Given the description of an element on the screen output the (x, y) to click on. 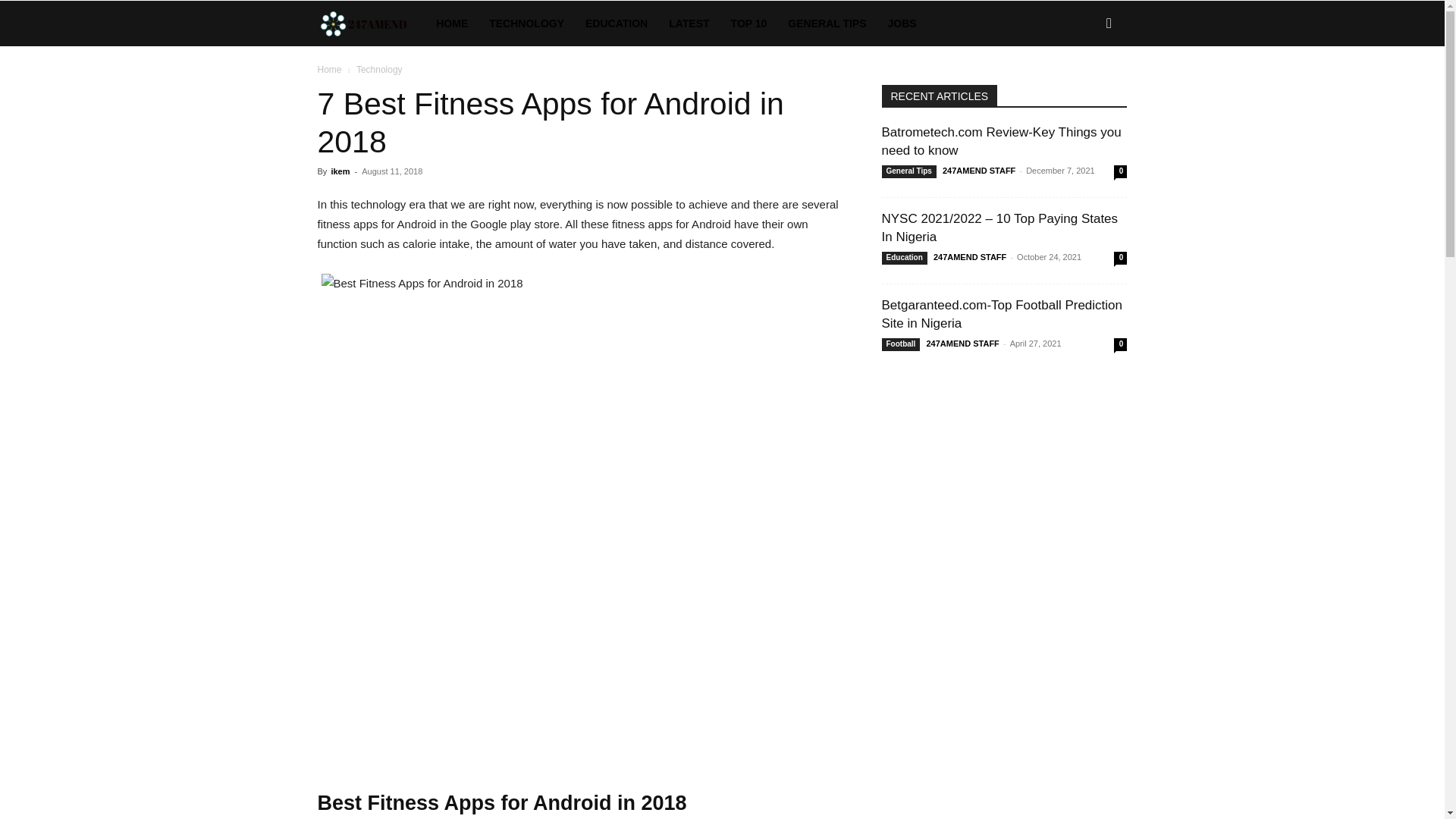
Batrometech.com Review-Key Things you need to know (1000, 141)
HOME (452, 22)
GENERAL TIPS (826, 22)
JOBS (902, 22)
LATEST (688, 22)
ikem (339, 171)
Home (328, 69)
EDUCATION (616, 22)
Search (1085, 88)
Betgaranteed.com-Top Football Prediction Site in Nigeria (1001, 314)
